Given the description of an element on the screen output the (x, y) to click on. 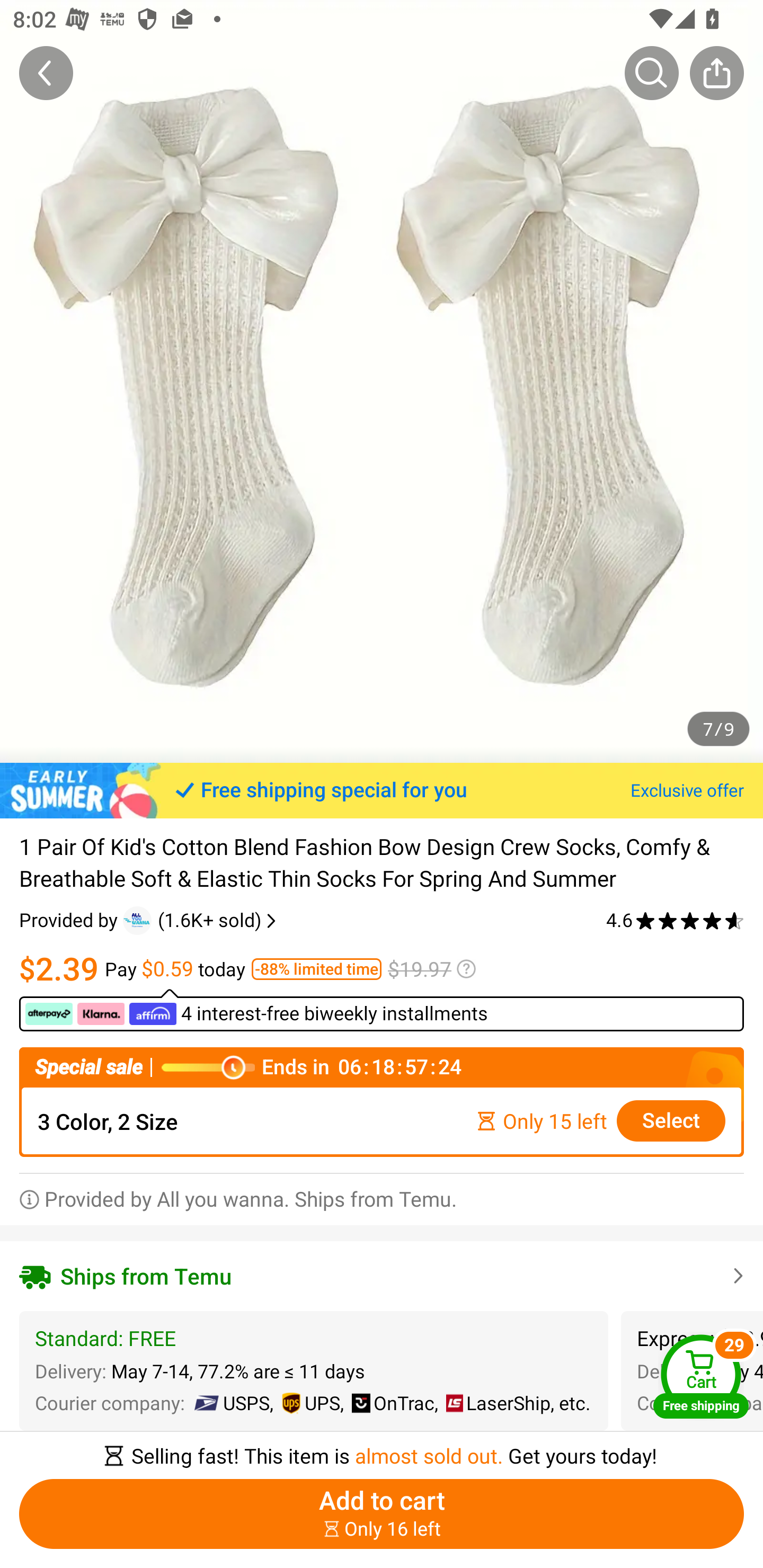
Back (46, 72)
Share (716, 72)
Free shipping special for you Exclusive offer (381, 790)
By null(1.6K+ sold) Provided by  (1.6K+ sold) (149, 920)
Provided by  (70, 920)
4.6 (674, 920)
￼ ￼ ￼ 4 interest-free biweekly installments (381, 1009)
Special sale Ends in￼￼ (381, 1067)
3 Color, 2 Size   Only 15 left Select (381, 1121)
Select (670, 1120)
Ships from Temu (381, 1275)
Cart Free shipping Cart (701, 1375)
Add to cart ￼￼Only 16 left (381, 1513)
